Given the description of an element on the screen output the (x, y) to click on. 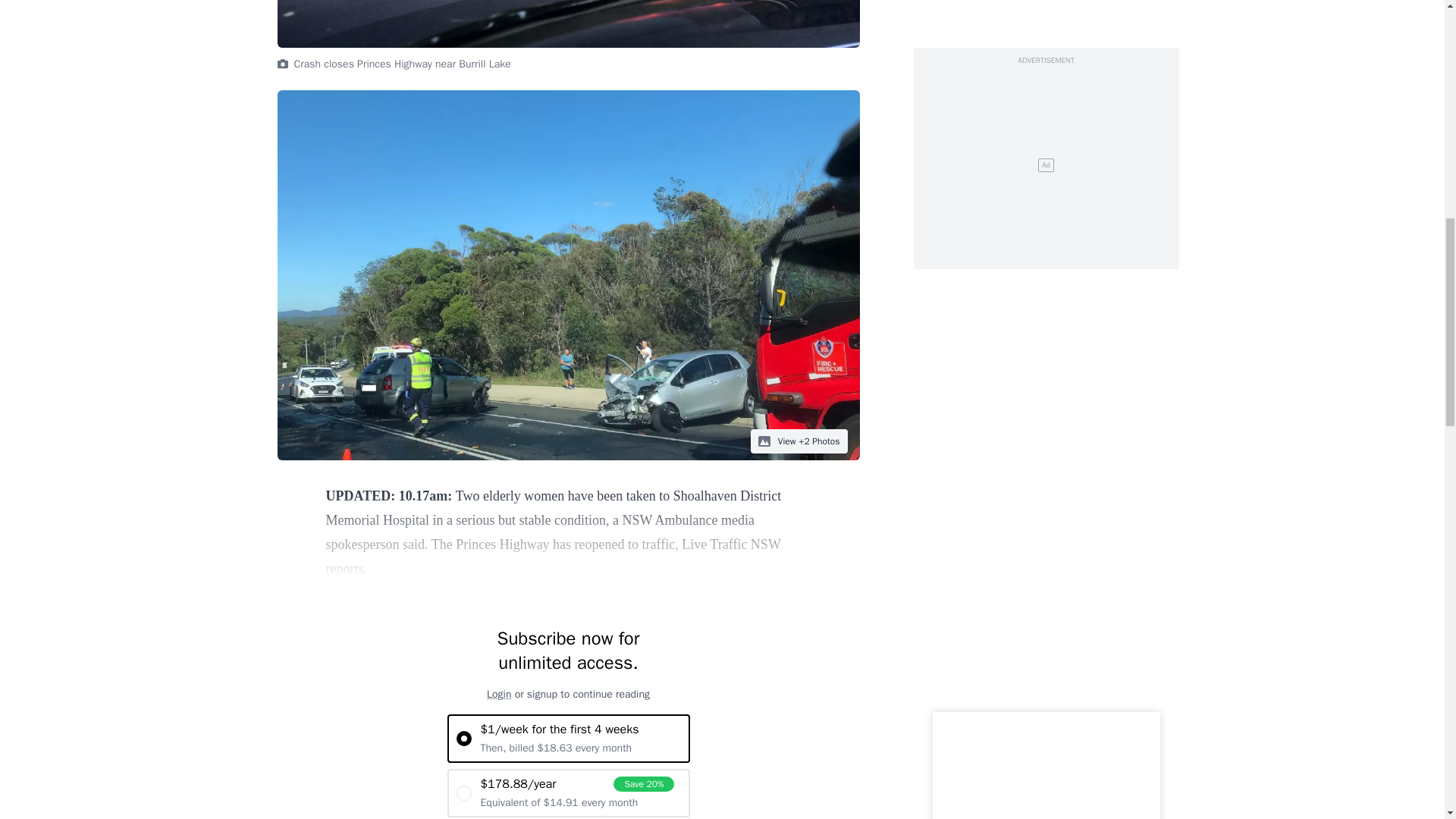
Crash closes Princes Highway near Burrill Lake (569, 23)
